Given the description of an element on the screen output the (x, y) to click on. 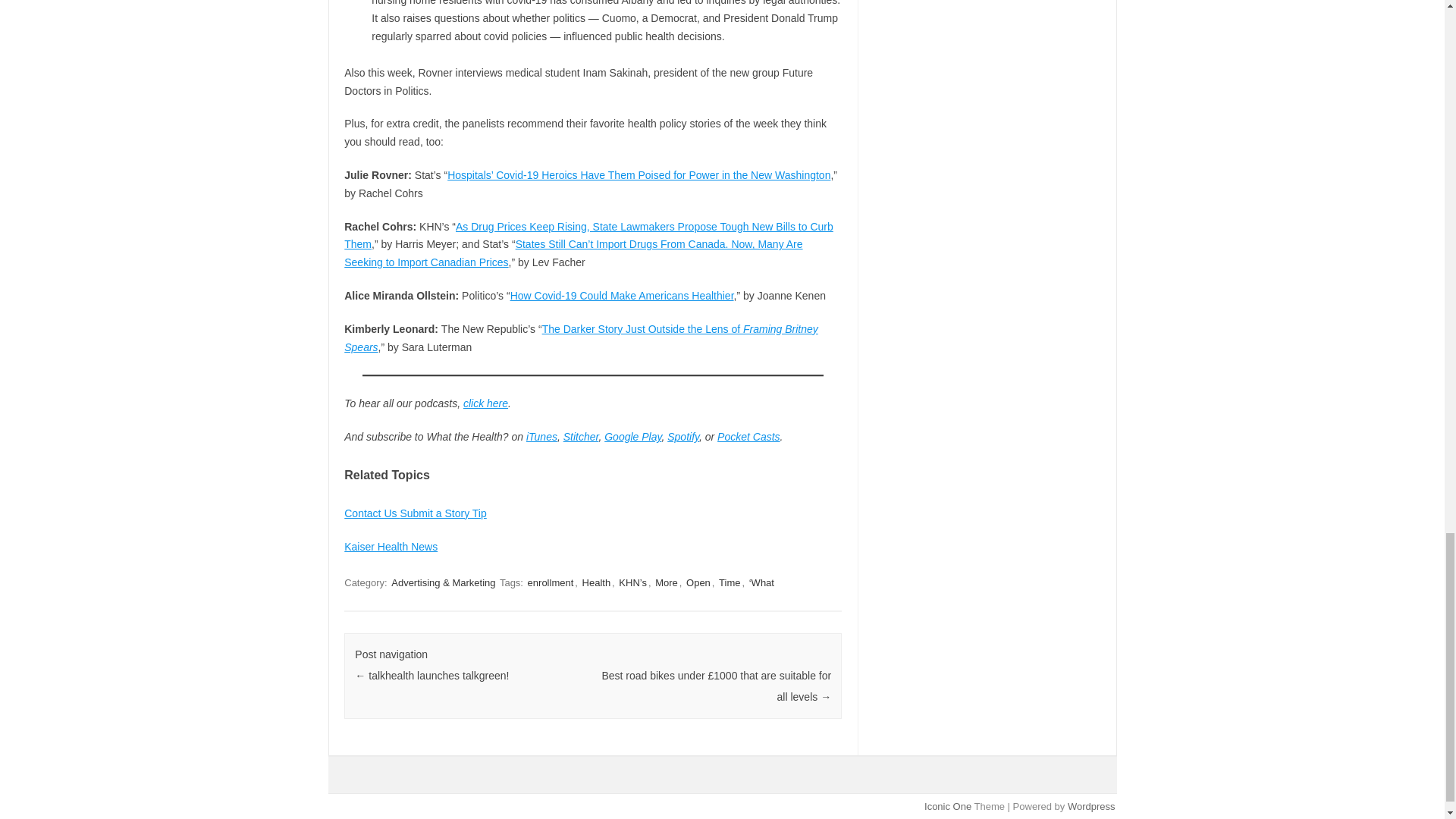
Submit a Story Tip (442, 512)
Kaiser Health News (390, 546)
Health (596, 582)
Pocket Casts (747, 436)
Contact Us (370, 512)
Open (697, 582)
More (666, 582)
How Covid-19 Could Make Americans Healthier (622, 295)
enrollment (550, 582)
Google Play (632, 436)
click here (485, 403)
iTunes (541, 436)
Stitcher (580, 436)
